Given the description of an element on the screen output the (x, y) to click on. 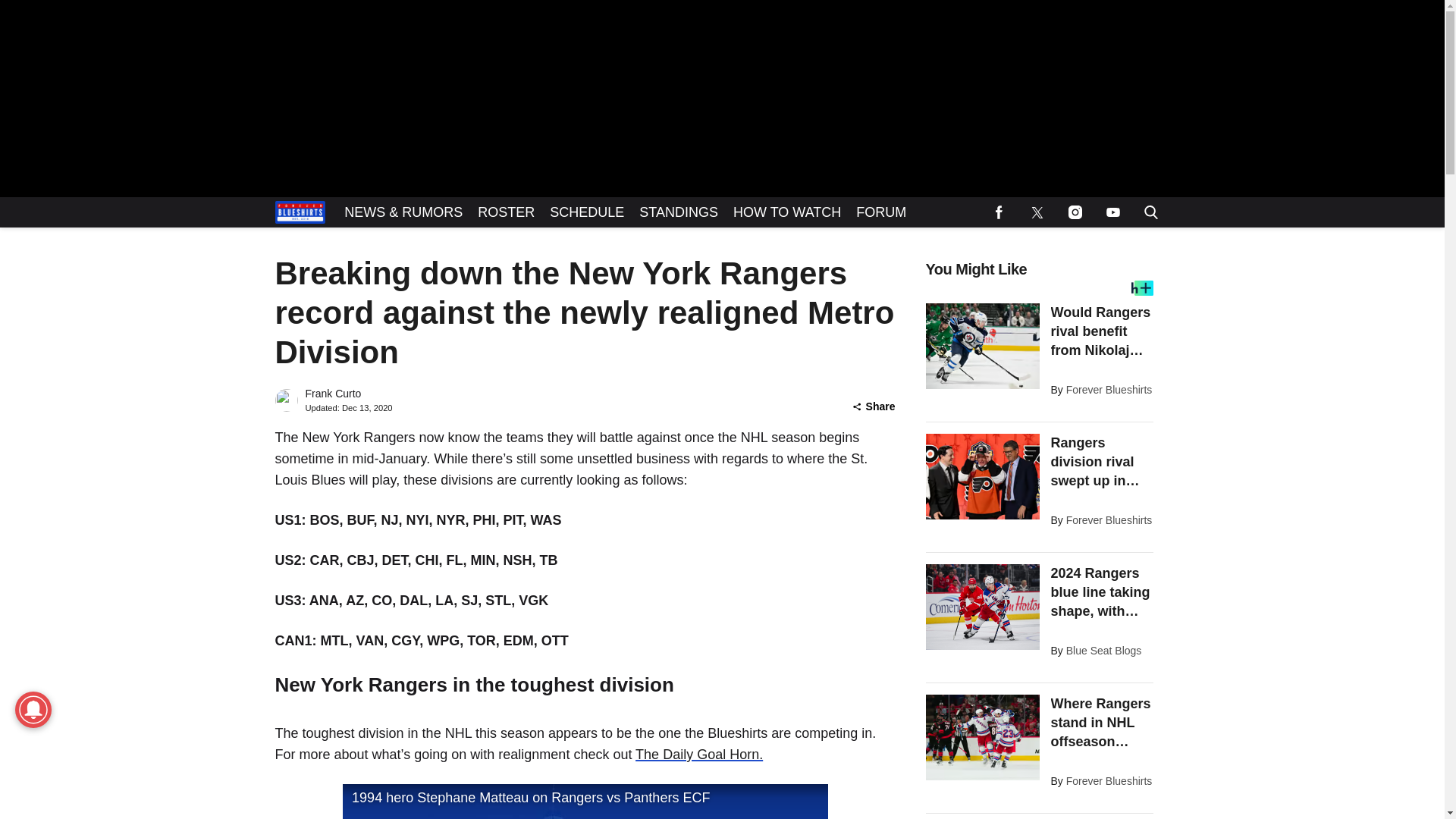
Frank Curto (332, 393)
Follow us on Facebook (998, 212)
Play Video (585, 801)
Subscribe to our YouTube channel (1112, 212)
Follow us on Twitter (1036, 212)
ROSTER (505, 212)
FORUM (881, 212)
The Daily Goal Horn. (698, 754)
SCHEDULE (586, 212)
Follow us on Instagram (1074, 212)
STANDINGS (678, 212)
Posts by Frank Curto (332, 393)
HOW TO WATCH (786, 212)
